Given the description of an element on the screen output the (x, y) to click on. 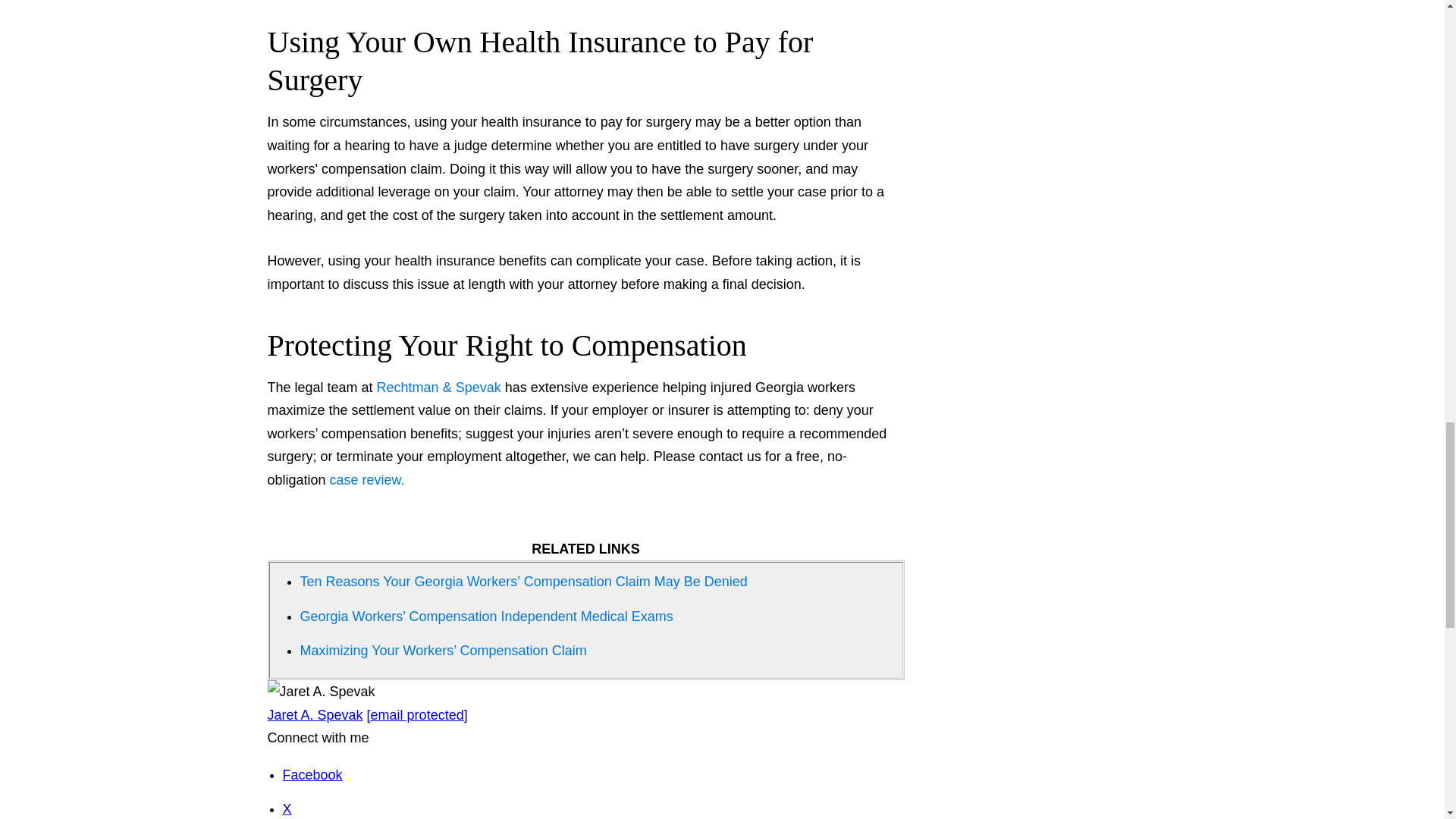
Find me on Facebook (312, 774)
